Given the description of an element on the screen output the (x, y) to click on. 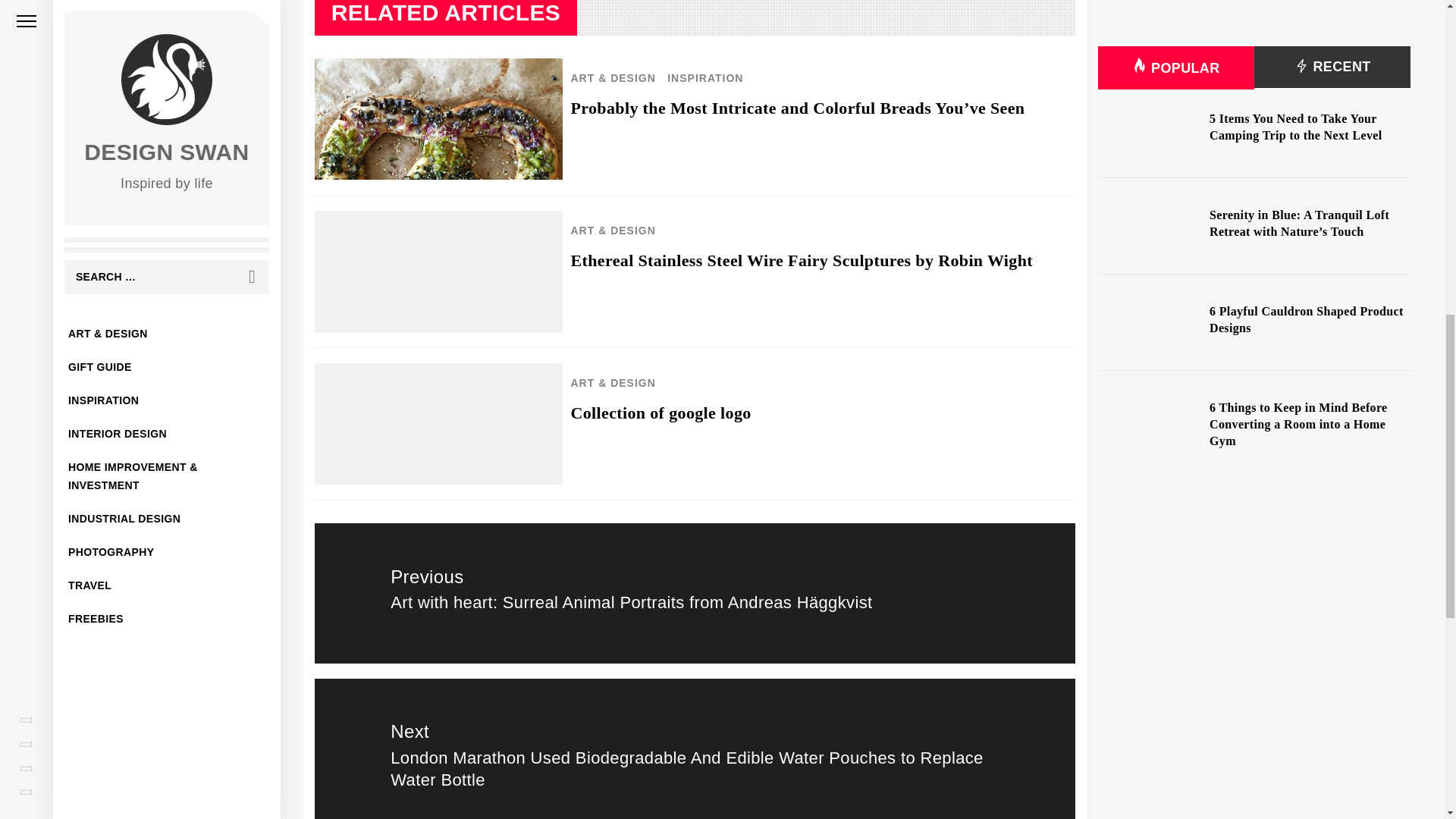
3rd party ad content (1254, 9)
